Given the description of an element on the screen output the (x, y) to click on. 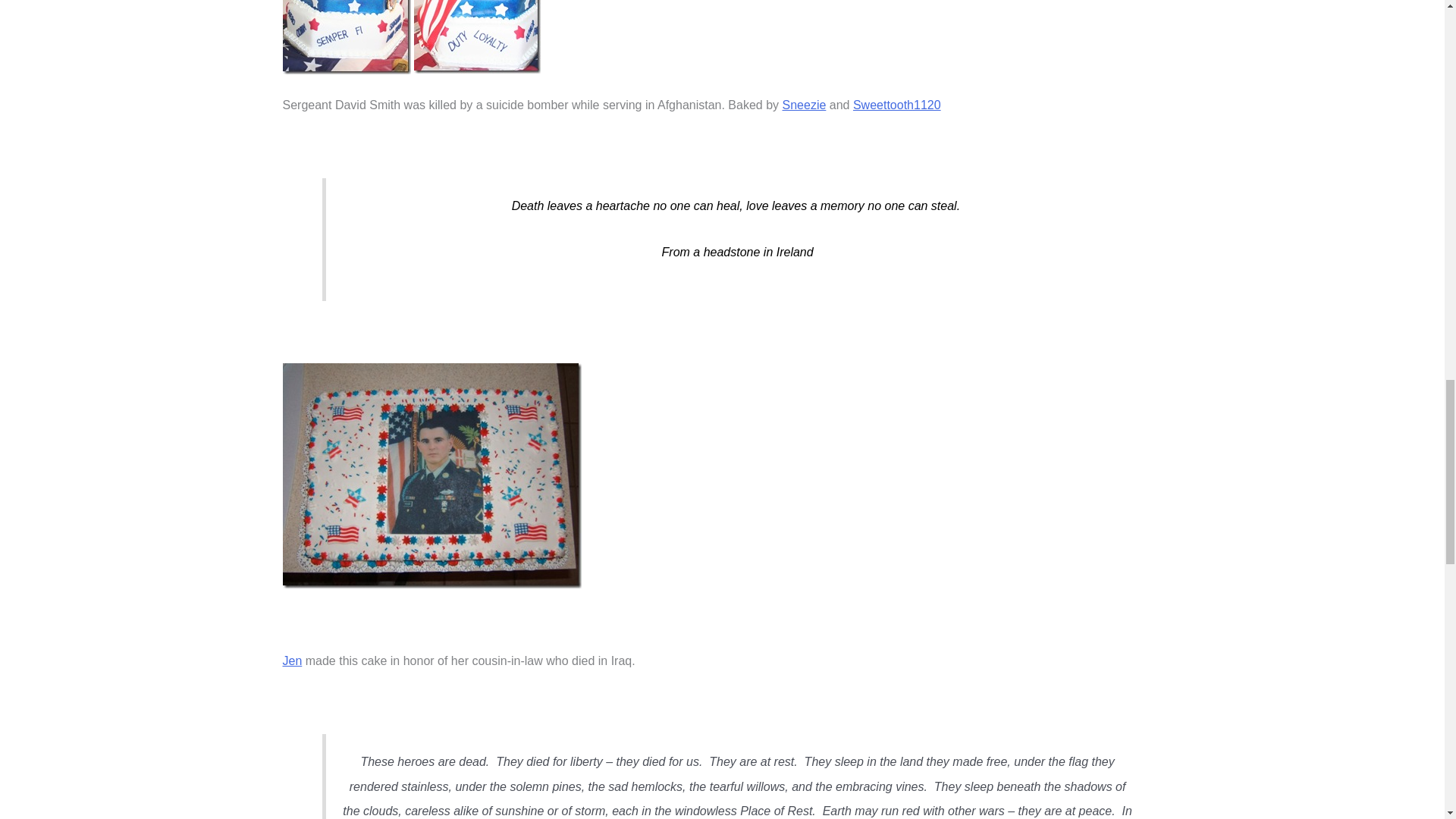
Memorial Day Cake (476, 36)
Jen (291, 659)
Memorial Day Cake (431, 475)
Sweettooth1120 (896, 104)
Memorial Day Cake (346, 37)
Sneezie (805, 104)
